Given the description of an element on the screen output the (x, y) to click on. 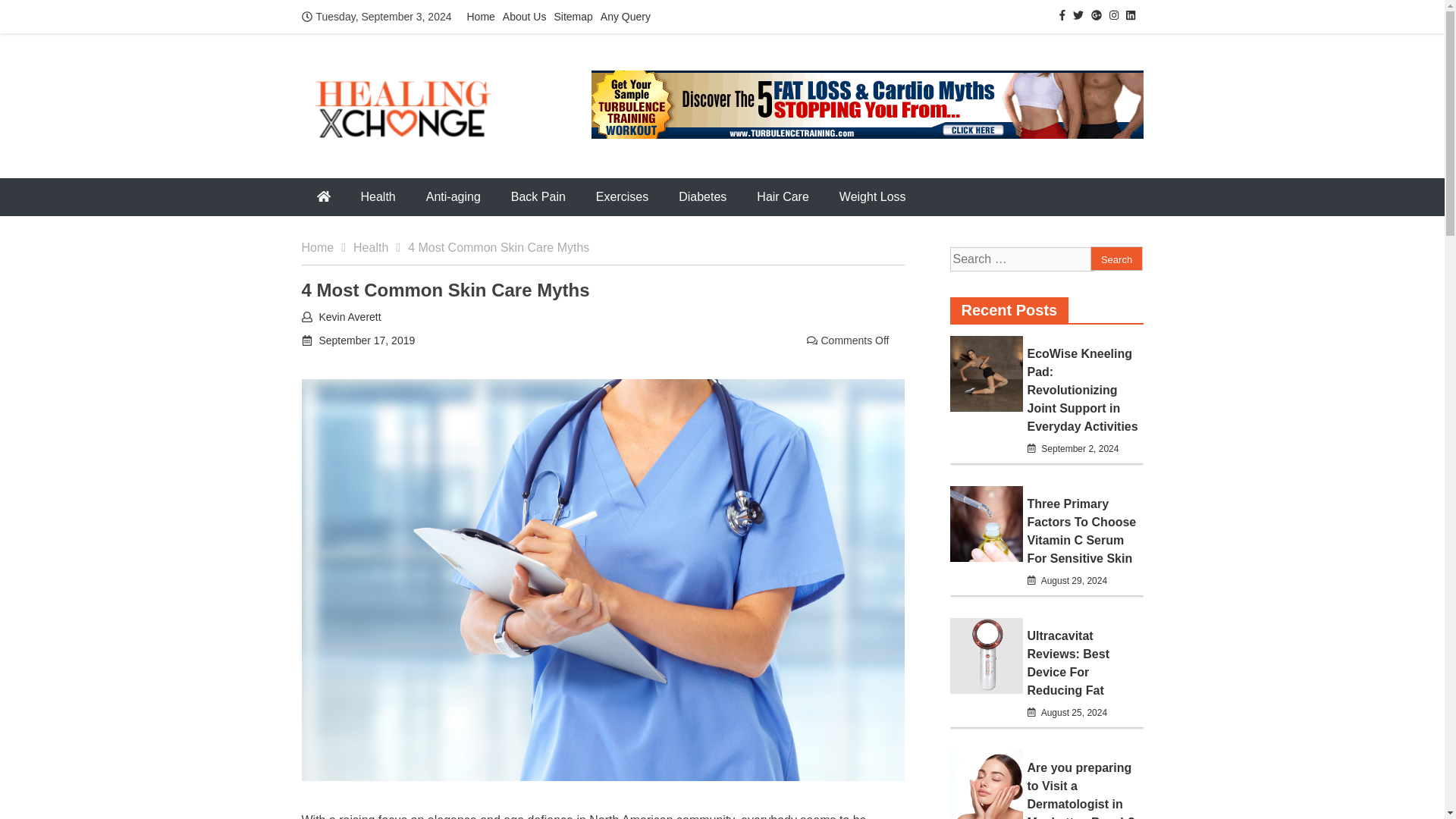
Hair Care (782, 197)
Health (380, 246)
Search (1116, 258)
Home (327, 246)
Search (1116, 258)
Back Pain (538, 197)
Health (378, 197)
Sitemap (572, 16)
Home (481, 16)
Search (1116, 258)
